Given the description of an element on the screen output the (x, y) to click on. 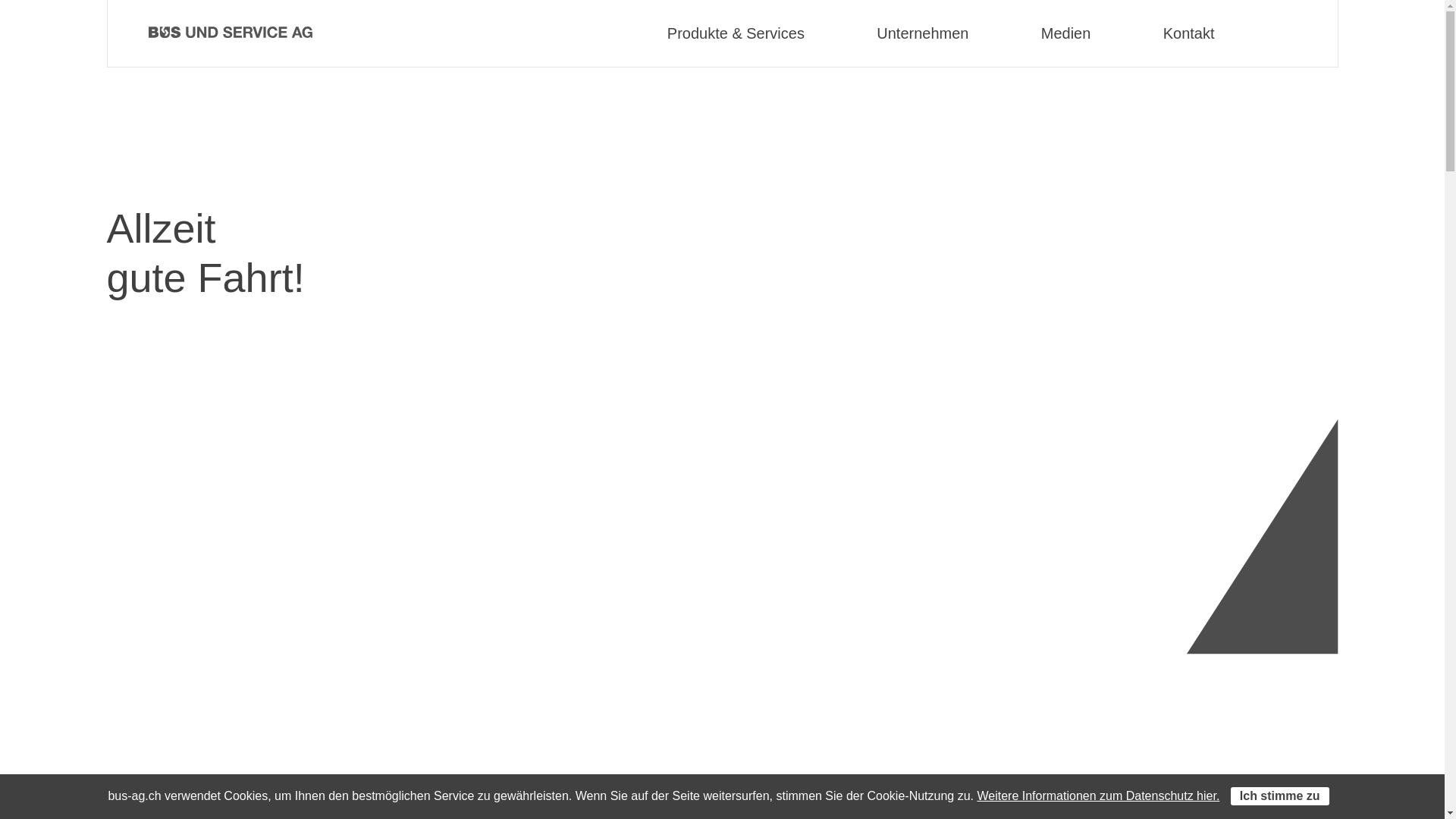
zur Suche Element type: hover (1303, 33)
Kontakt Element type: text (1188, 32)
Ich stimme zu Element type: text (1279, 796)
Unternehmen Element type: text (922, 32)
Weitere Informationen zum Datenschutz hier. Element type: text (1097, 795)
Produkte & Services Element type: text (735, 32)
zur Startseite Element type: hover (230, 33)
Medien Element type: text (1066, 32)
